Given the description of an element on the screen output the (x, y) to click on. 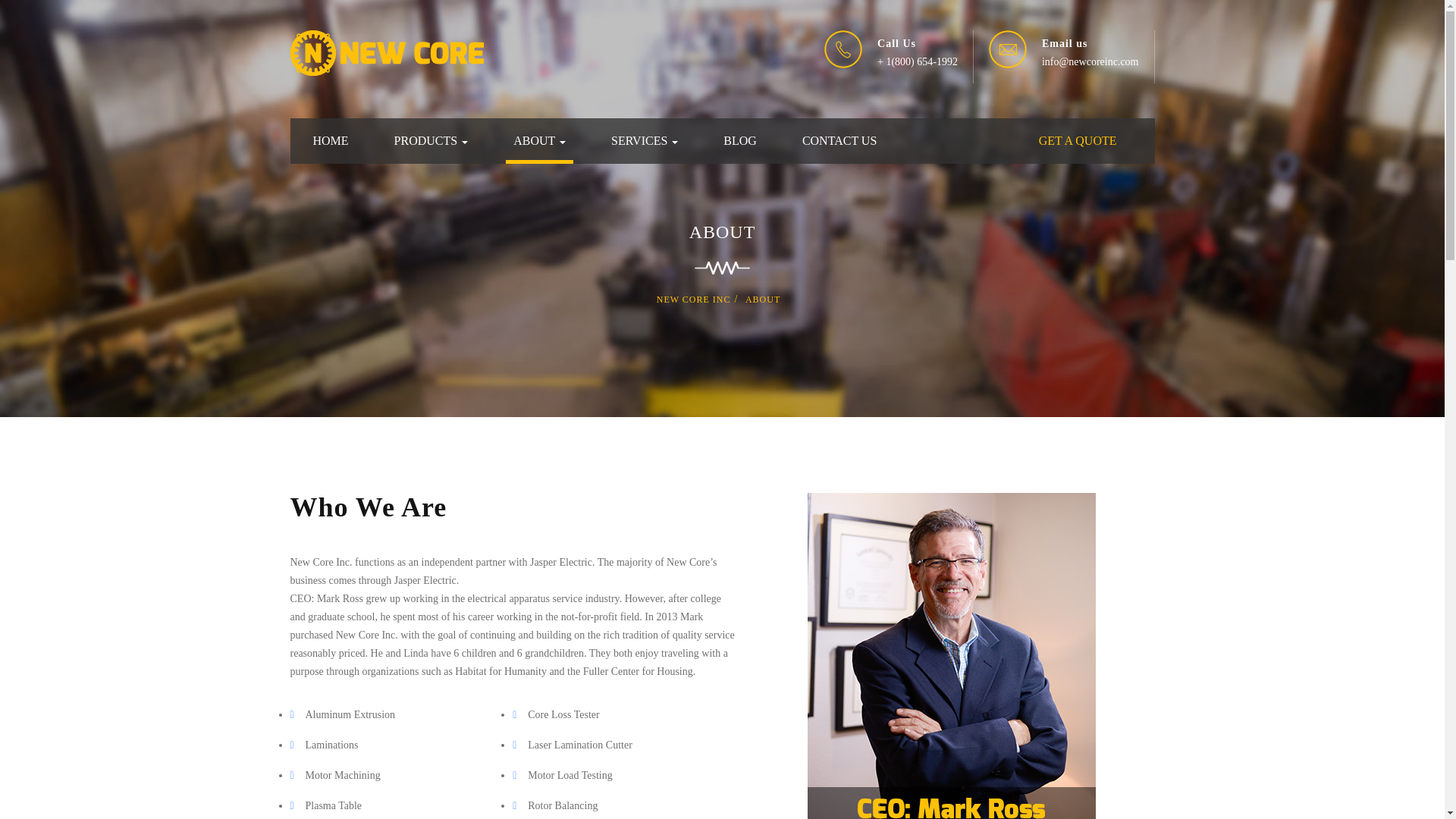
HOME (329, 140)
NEW CORE INC (693, 299)
Home (329, 140)
PRODUCTS (431, 140)
ABOUT (539, 140)
BLOG (740, 140)
Services (644, 140)
SERVICES (644, 140)
CONTACT US (838, 140)
About (539, 140)
